Given the description of an element on the screen output the (x, y) to click on. 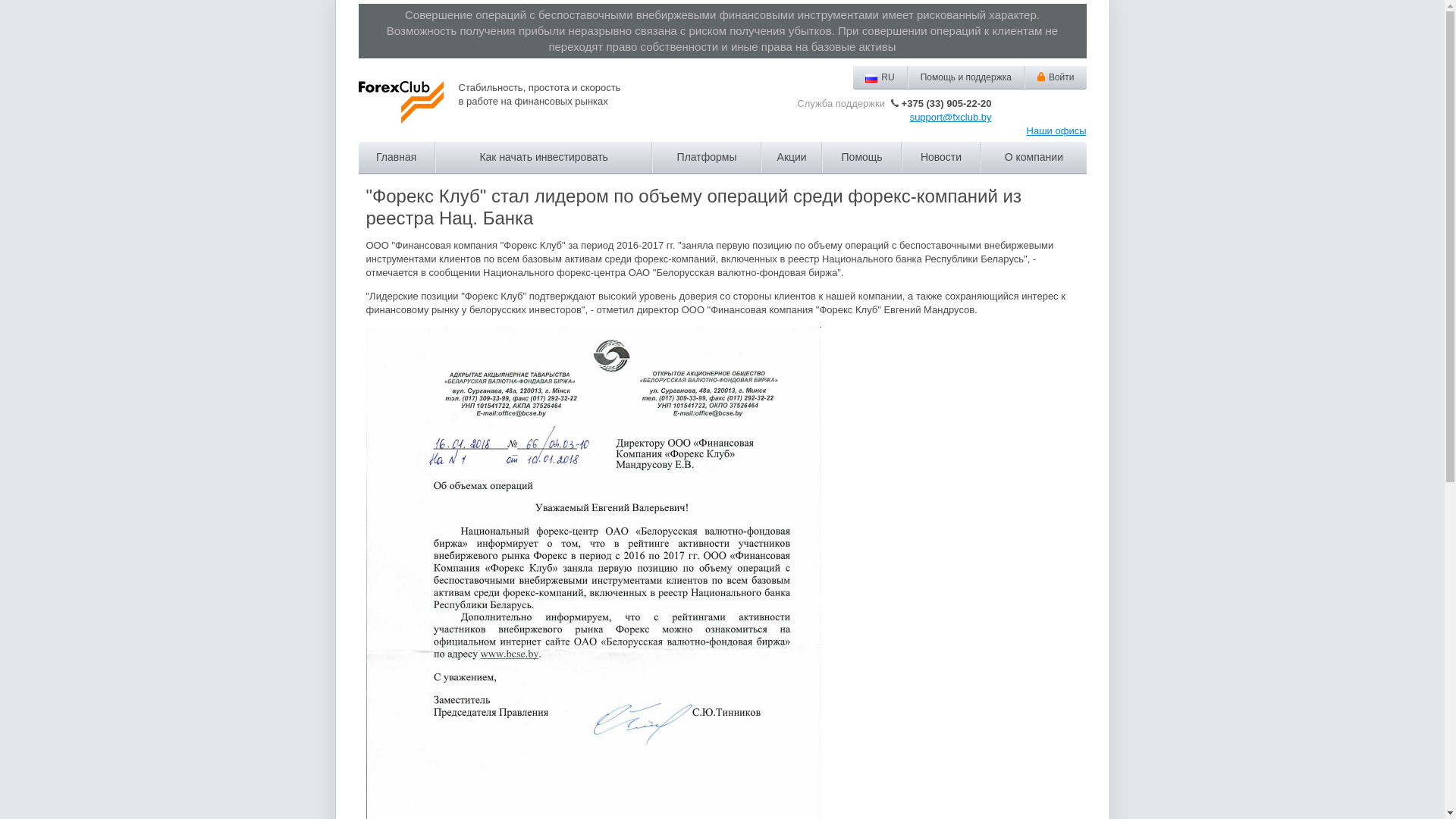
Forex Club Element type: text (399, 102)
support@fxclub.by Element type: text (950, 116)
+375 (33) 905-22-20 Element type: text (939, 103)
RU Element type: text (879, 76)
